Given the description of an element on the screen output the (x, y) to click on. 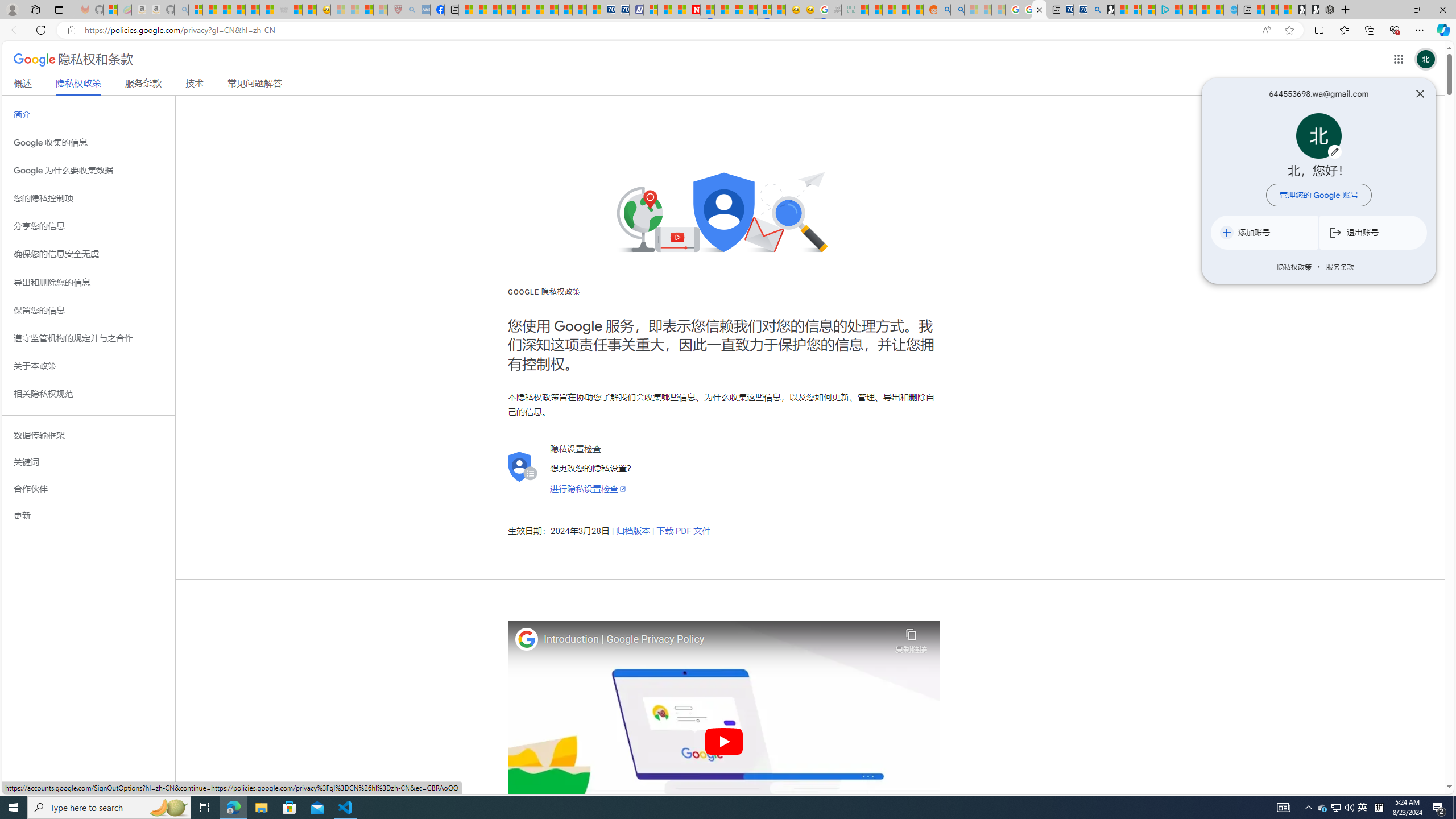
The Weather Channel - MSN (223, 9)
New Report Confirms 2023 Was Record Hot | Watch (252, 9)
World - MSN (493, 9)
